Given the description of an element on the screen output the (x, y) to click on. 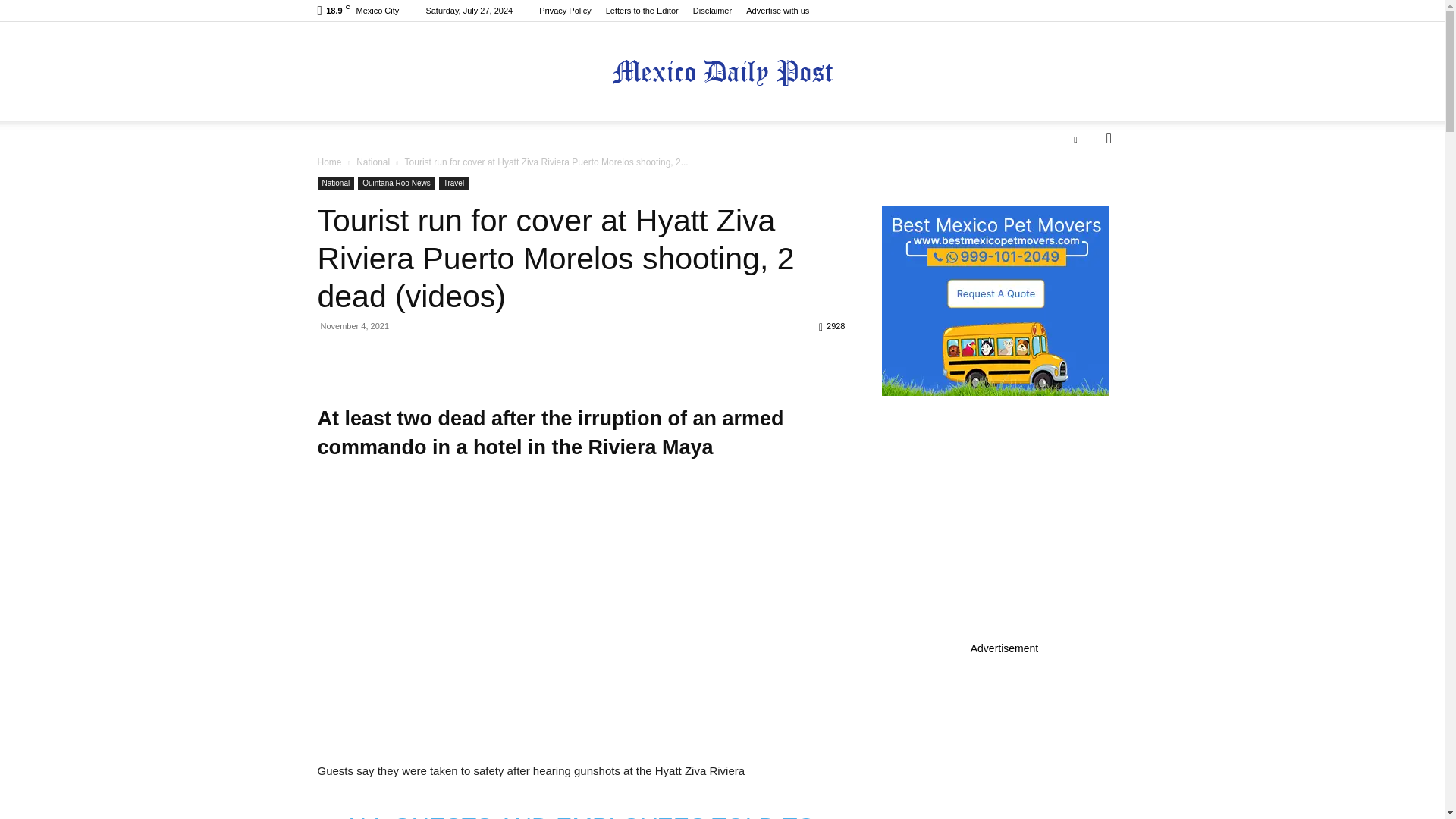
National (373, 162)
Privacy Policy (564, 10)
National (335, 183)
Letters to the Editor (641, 10)
Advertise with us (777, 10)
Travel (453, 183)
Search (1085, 199)
View all posts in National (373, 162)
Home (328, 162)
Disclaimer (712, 10)
Quintana Roo News (396, 183)
Twitter (1075, 138)
Mexico Daily Post (721, 72)
